Given the description of an element on the screen output the (x, y) to click on. 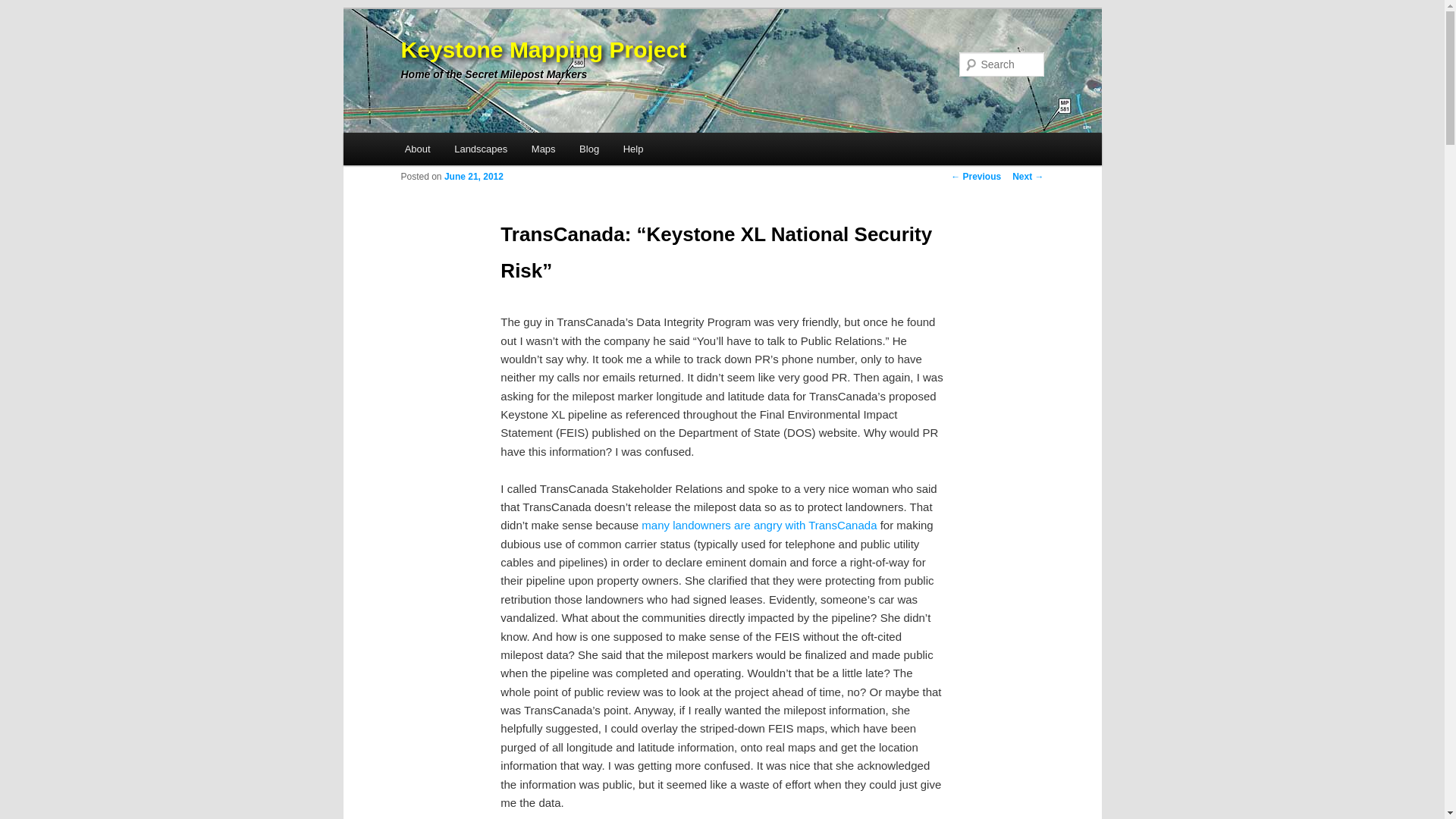
Blog (589, 148)
Search (24, 8)
Keystone Mapping Project (542, 49)
June 21, 2012 (473, 176)
Maps (543, 148)
Help (633, 148)
8:51 PM (473, 176)
many landowners are angry with TransCanada (759, 524)
Landscapes (480, 148)
About (417, 148)
